Given the description of an element on the screen output the (x, y) to click on. 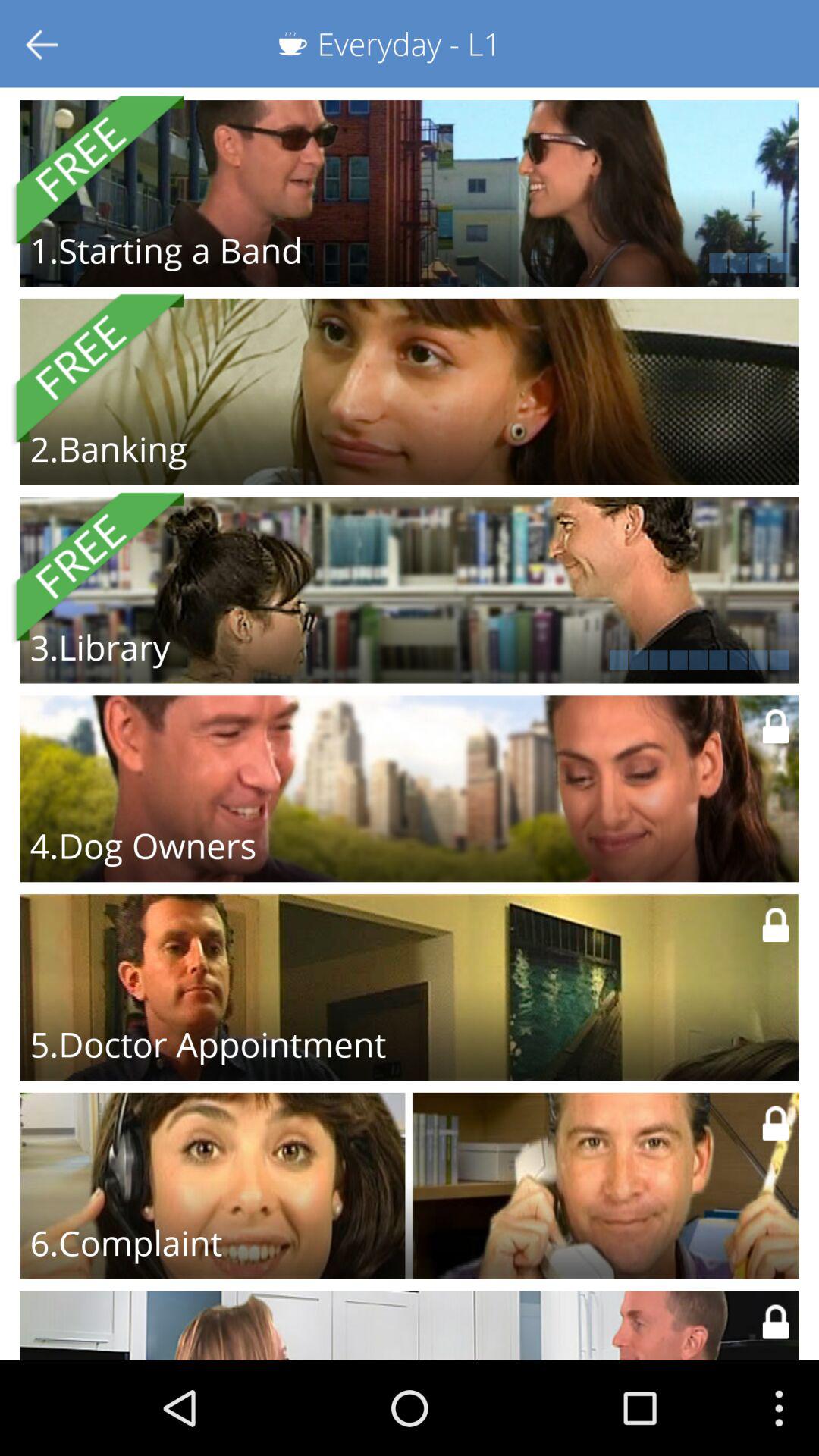
turn on the 4.dog owners icon (143, 845)
